Given the description of an element on the screen output the (x, y) to click on. 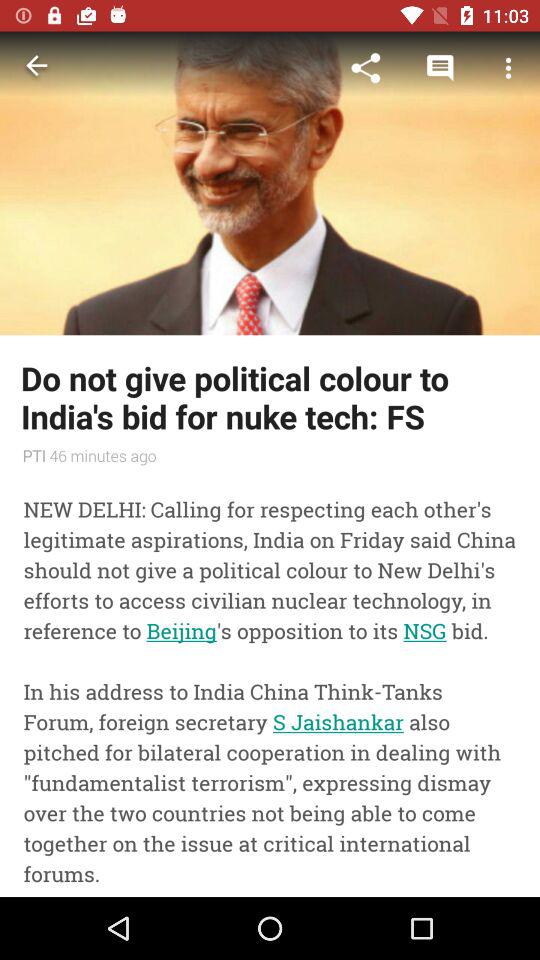
click the item above do not give icon (270, 183)
